Given the description of an element on the screen output the (x, y) to click on. 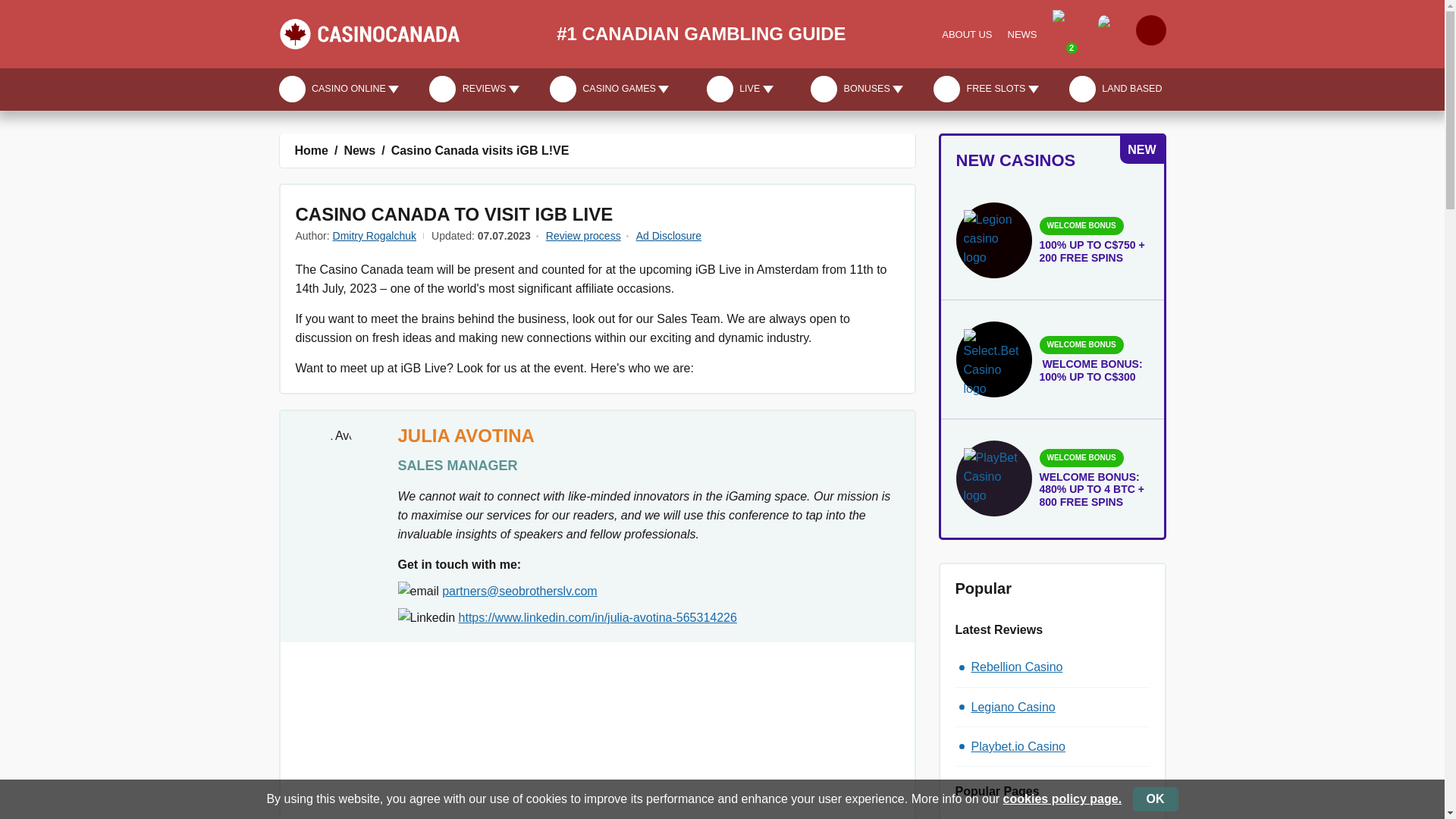
REVIEWS (473, 88)
NEWS (1021, 33)
CASINO ONLINE (341, 88)
ABOUT US (966, 33)
